Given the description of an element on the screen output the (x, y) to click on. 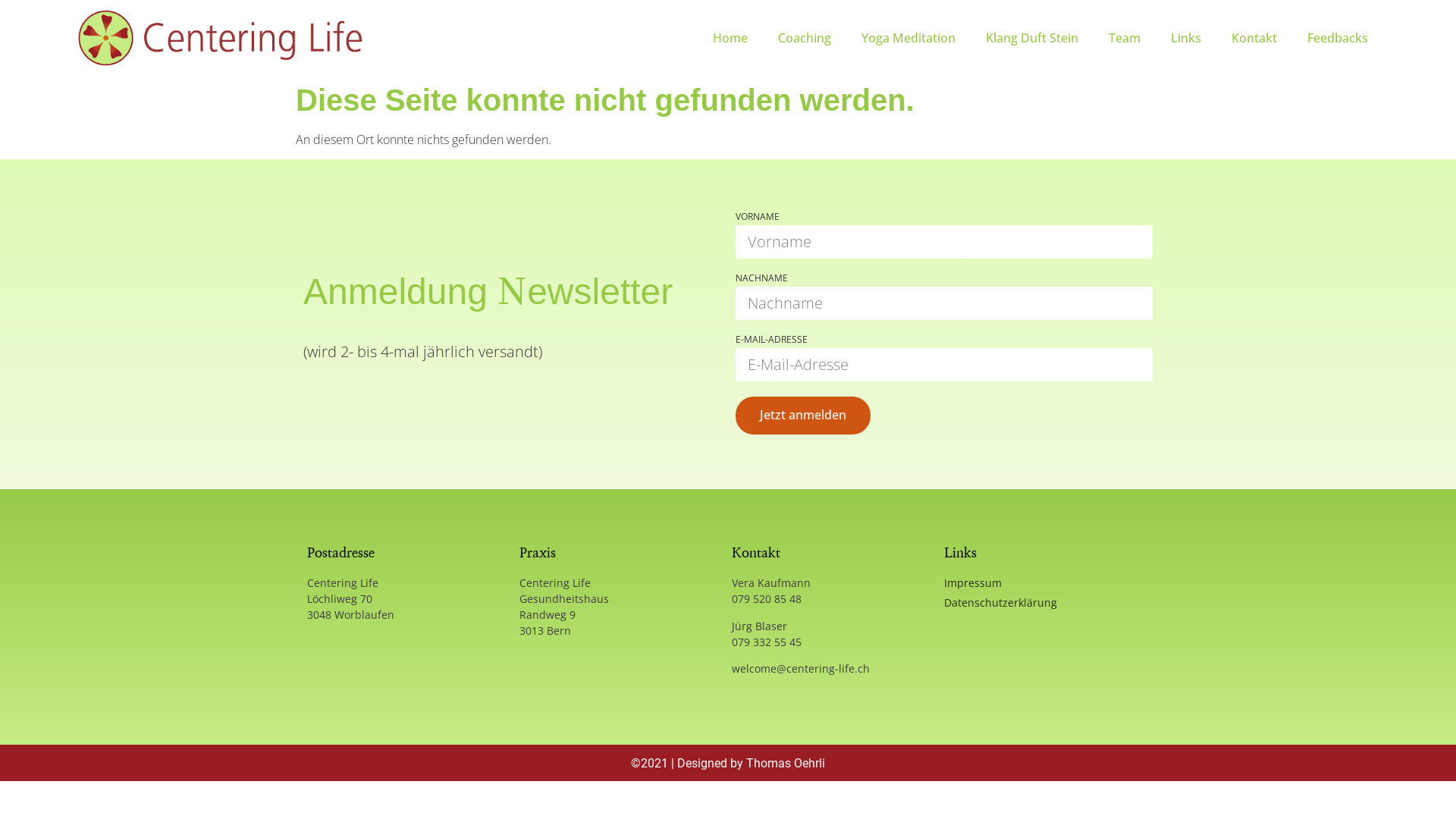
Klang Duft Stein Element type: text (1031, 37)
Team Element type: text (1124, 37)
Impressum Element type: text (1046, 582)
Home Element type: text (729, 37)
Yoga Meditation Element type: text (908, 37)
Coaching Element type: text (804, 37)
Links Element type: text (1185, 37)
Kontakt Element type: text (1254, 37)
Feedbacks Element type: text (1337, 37)
Jetzt anmelden Element type: text (802, 415)
